Given the description of an element on the screen output the (x, y) to click on. 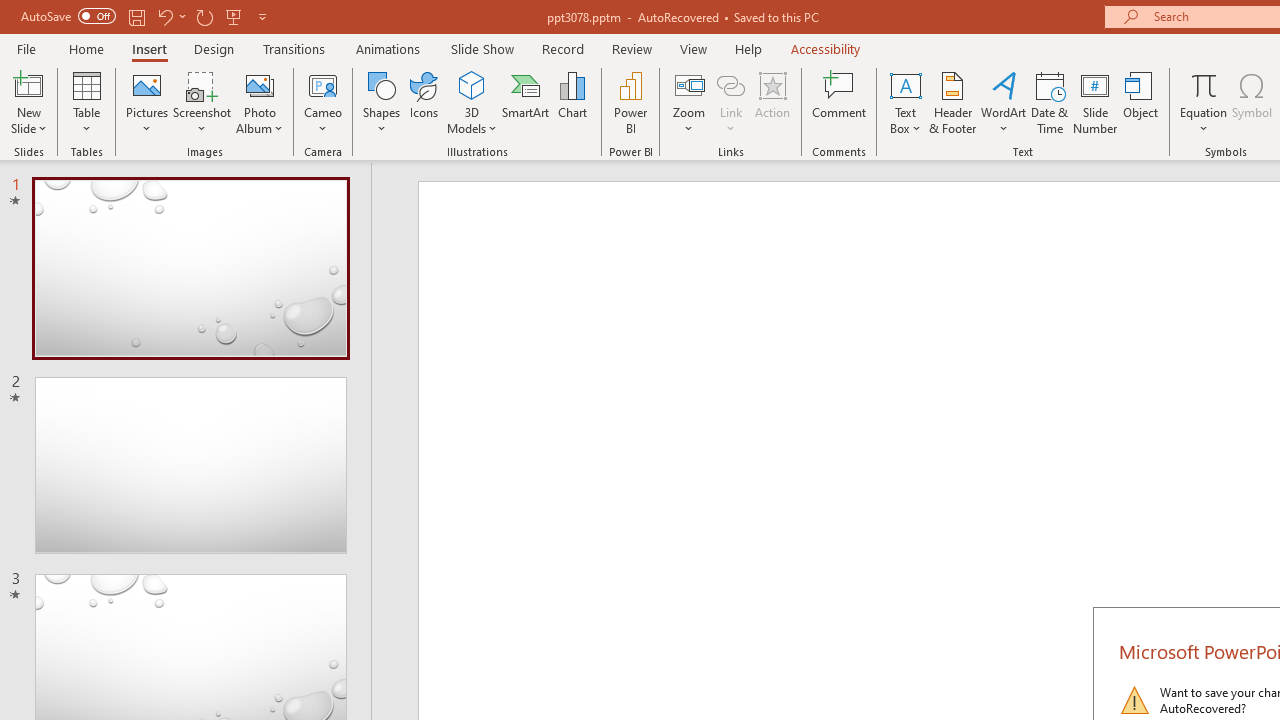
Chart... (572, 102)
Draw Horizontal Text Box (905, 84)
Header & Footer... (952, 102)
Action (772, 102)
Link (731, 102)
Screenshot (202, 102)
WordArt (1004, 102)
Table (86, 102)
